Given the description of an element on the screen output the (x, y) to click on. 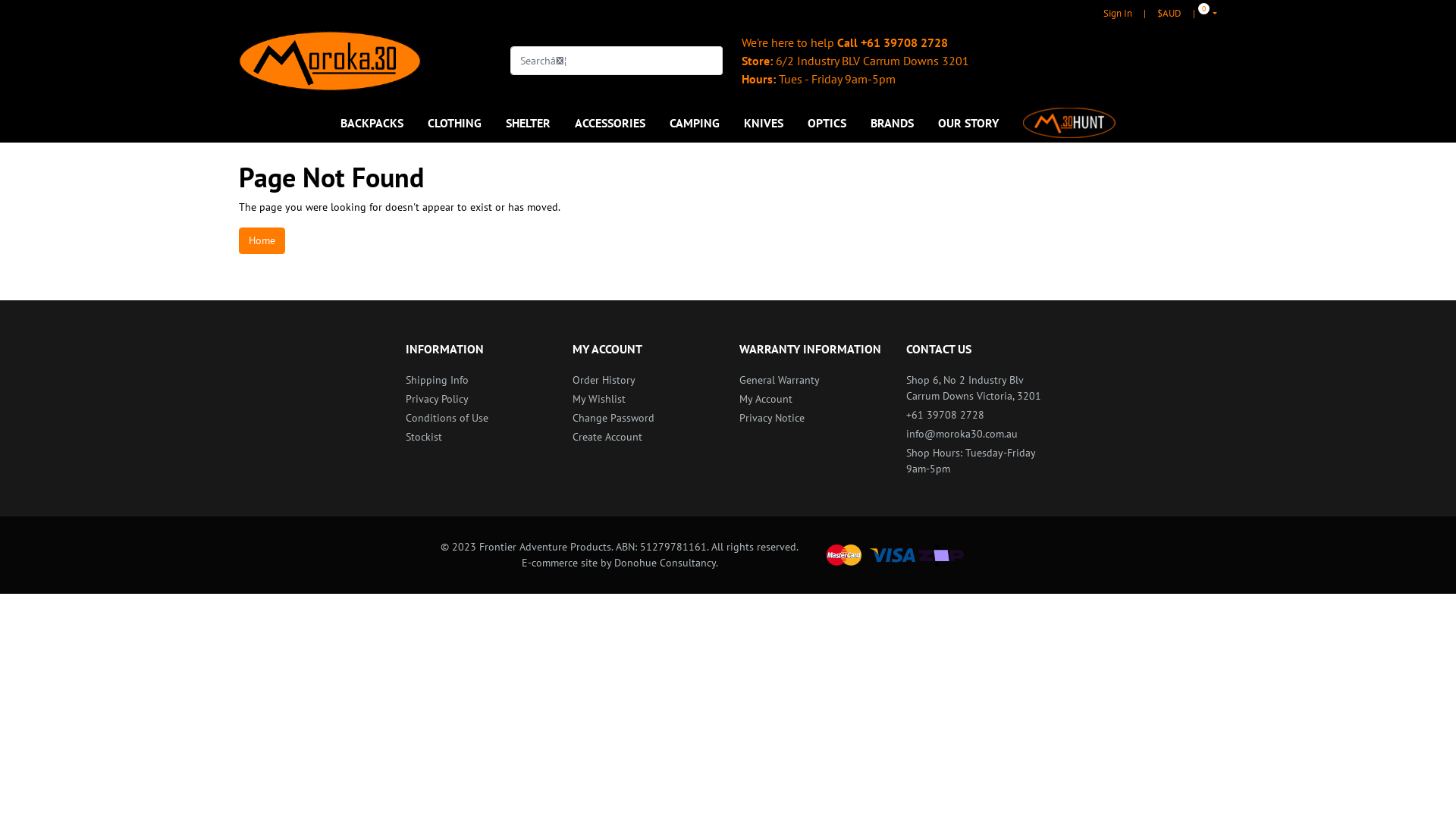
General Warranty Element type: text (811, 379)
Privacy Notice Element type: text (811, 417)
Stockist Element type: text (477, 436)
Home Element type: text (261, 240)
Conditions of Use Element type: text (477, 417)
Shop 6, No 2 Industry Blv Carrum Downs Victoria, 3201 Element type: text (978, 387)
Order History Element type: text (644, 379)
Change Password Element type: text (644, 417)
BRANDS Element type: text (891, 122)
BACKPACKS Element type: text (377, 122)
CLOTHING Element type: text (454, 122)
0 Element type: text (1199, 13)
ACCESSORIES Element type: text (609, 122)
+61 39708 2728 Element type: text (903, 42)
+61 39708 2728 Element type: text (978, 414)
KNIVES Element type: text (763, 122)
Shipping Info Element type: text (477, 379)
CAMPING Element type: text (694, 122)
Shop Hours: Tuesday-Friday 9am-5pm Element type: text (978, 460)
Sign In Element type: text (1117, 13)
Search Element type: text (712, 60)
SHELTER Element type: text (527, 122)
My Wishlist Element type: text (644, 398)
info@moroka30.com.au Element type: text (978, 433)
Create Account Element type: text (644, 436)
OPTICS Element type: text (826, 122)
Donohue Consultancy Element type: text (664, 562)
Frontier Adventure Products Element type: hover (329, 60)
Privacy Policy Element type: text (477, 398)
My Account Element type: text (811, 398)
OUR STORY Element type: text (967, 122)
